Given the description of an element on the screen output the (x, y) to click on. 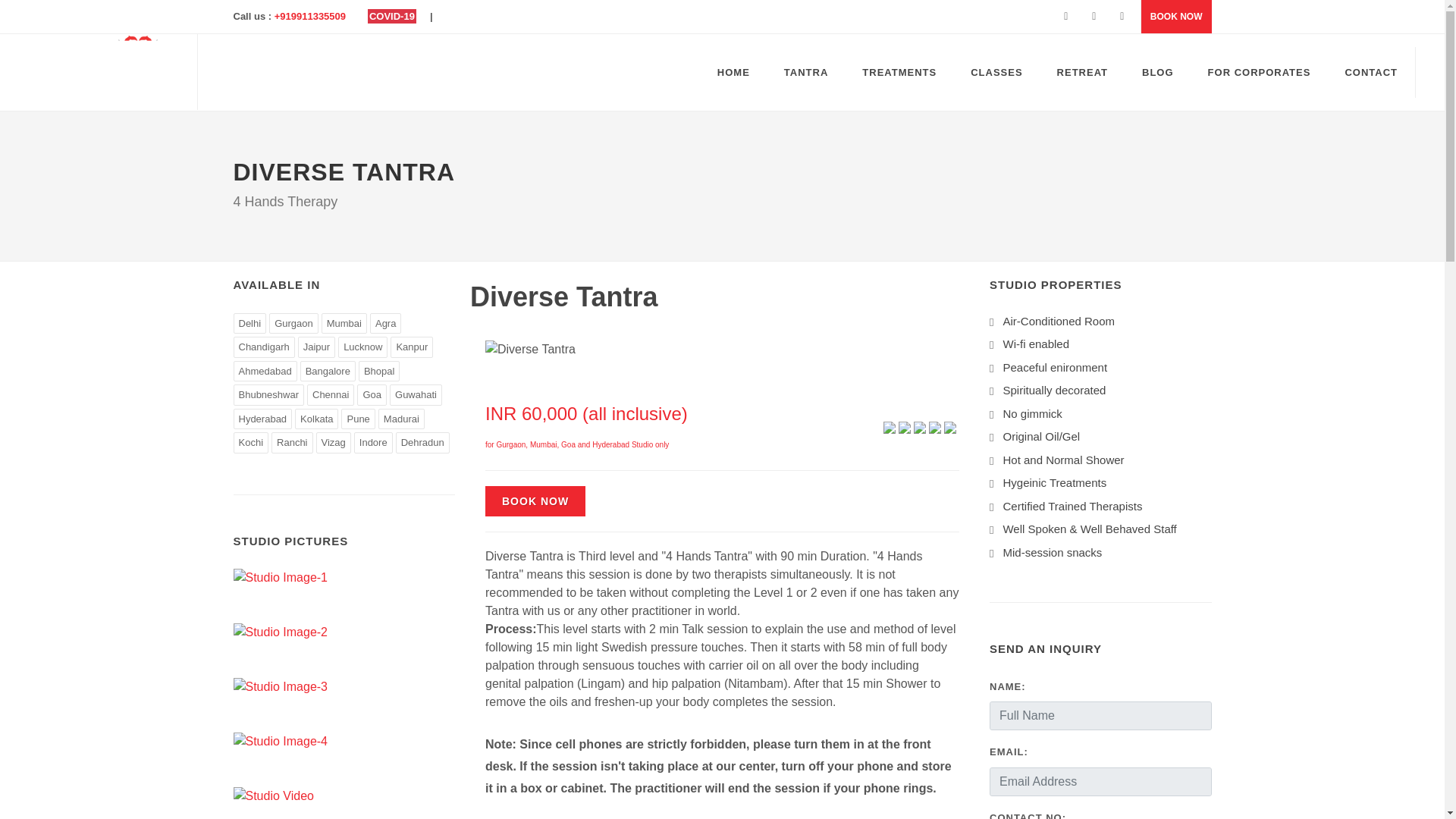
Ranchi (291, 442)
BOOK NOW (1176, 16)
Bangalore (327, 371)
COVID-19 (392, 16)
Madurai (401, 418)
Kochi (250, 442)
Kolkata (316, 418)
Gurgaon (293, 322)
CLASSES (996, 71)
Mumbai (343, 322)
FOR CORPORATES (1259, 71)
TANTRA (806, 71)
Chennai (330, 394)
Bhubneshwar (268, 394)
Pune (357, 418)
